Given the description of an element on the screen output the (x, y) to click on. 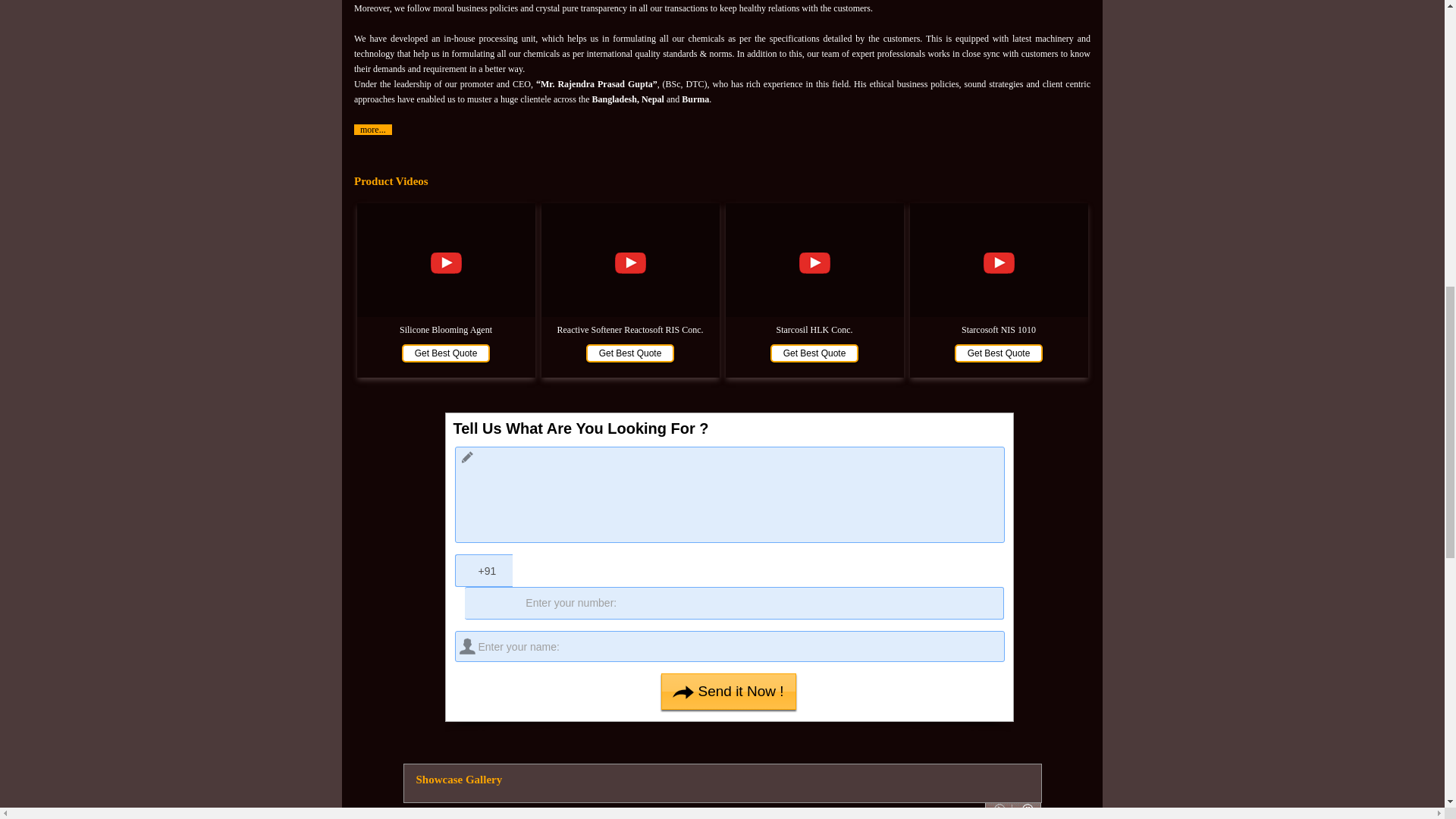
Send it Now ! (728, 691)
Enter your number: (733, 603)
Enter your name: (729, 645)
